Given the description of an element on the screen output the (x, y) to click on. 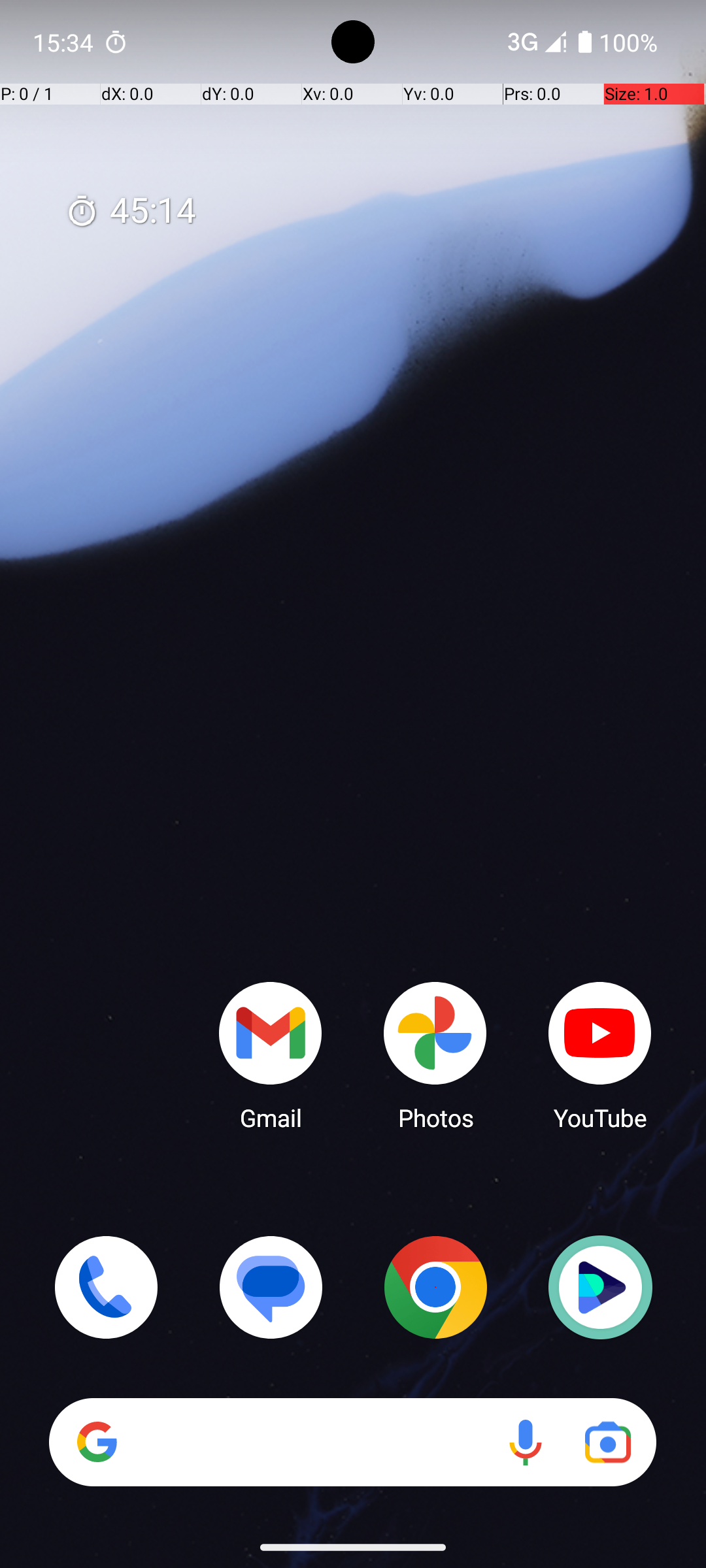
Home Element type: android.view.View (353, 804)
Phone Element type: android.widget.TextView (105, 1287)
Messages Element type: android.widget.TextView (270, 1287)
Chrome Element type: android.widget.TextView (435, 1287)
Retro Music Element type: android.widget.TextView (599, 1287)
Search Element type: android.widget.FrameLayout (352, 1442)
45:15 Element type: android.widget.TextView (130, 210)
Gmail Element type: android.widget.TextView (270, 1054)
Photos Element type: android.widget.TextView (435, 1054)
YouTube Element type: android.widget.TextView (599, 1054)
Google app Element type: android.widget.ImageView (97, 1441)
Voice search Element type: android.widget.ImageView (525, 1442)
Google Lens Element type: android.widget.ImageButton (607, 1442)
